Given the description of an element on the screen output the (x, y) to click on. 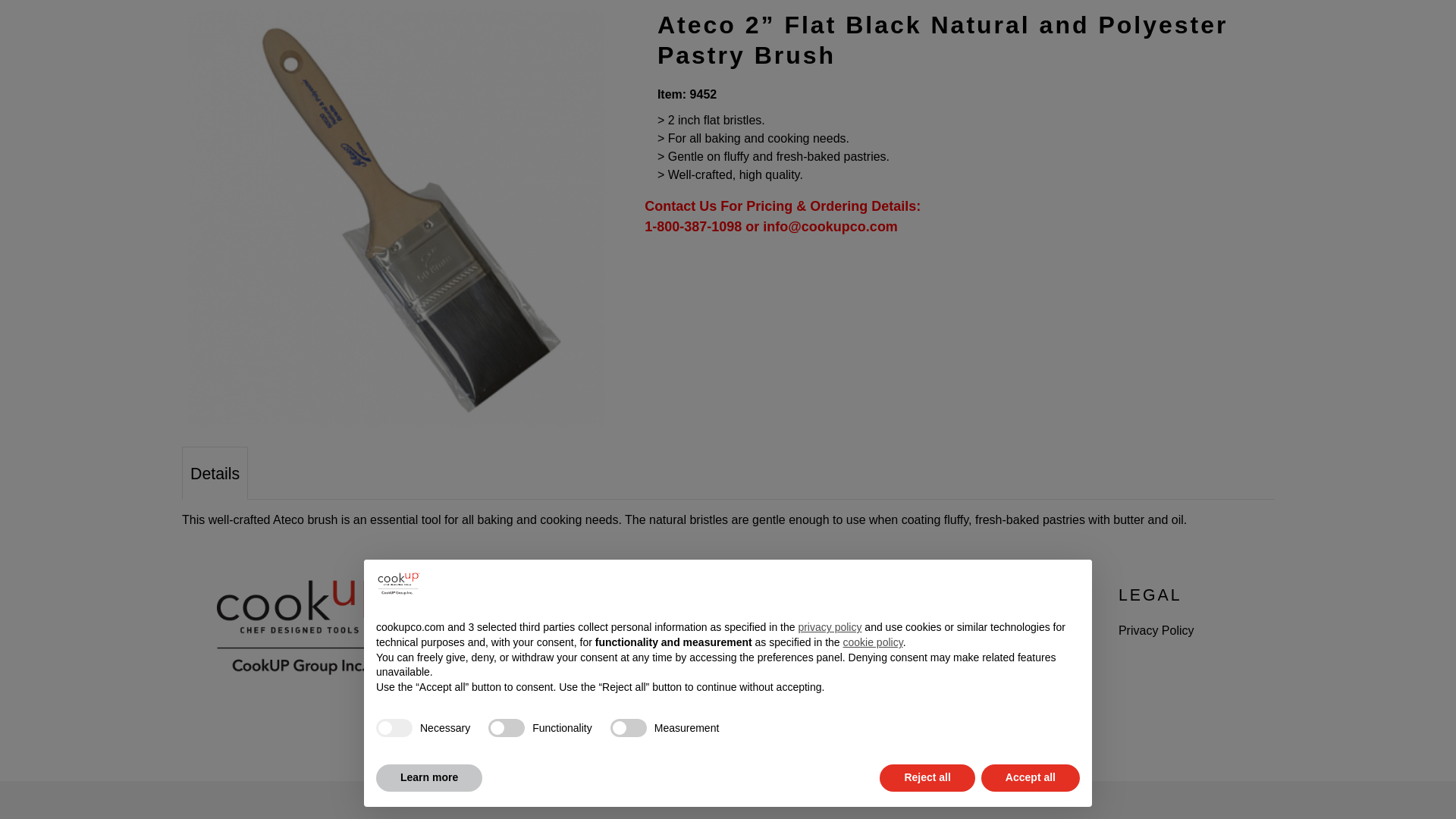
false (628, 542)
false (505, 542)
Privacy Policy  (1155, 630)
true (393, 542)
